Given the description of an element on the screen output the (x, y) to click on. 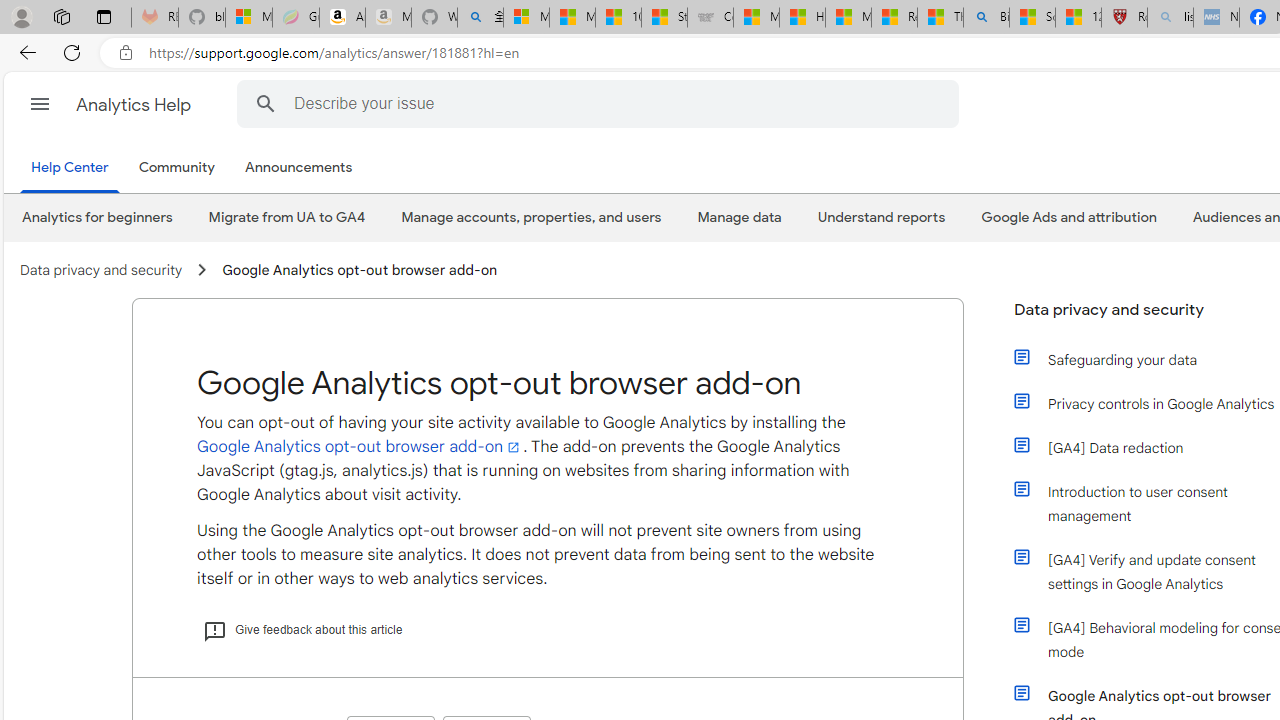
Manage accounts, properties, and users (531, 217)
Combat Siege (710, 17)
Science - MSN (1031, 17)
Bing (985, 17)
Give feedback about this article (303, 629)
Google Analytics opt-out browser add-on (360, 447)
Migrate from UA to GA4 (287, 217)
Class: article (1021, 692)
How I Got Rid of Microsoft Edge's Unnecessary Features (802, 17)
